Given the description of an element on the screen output the (x, y) to click on. 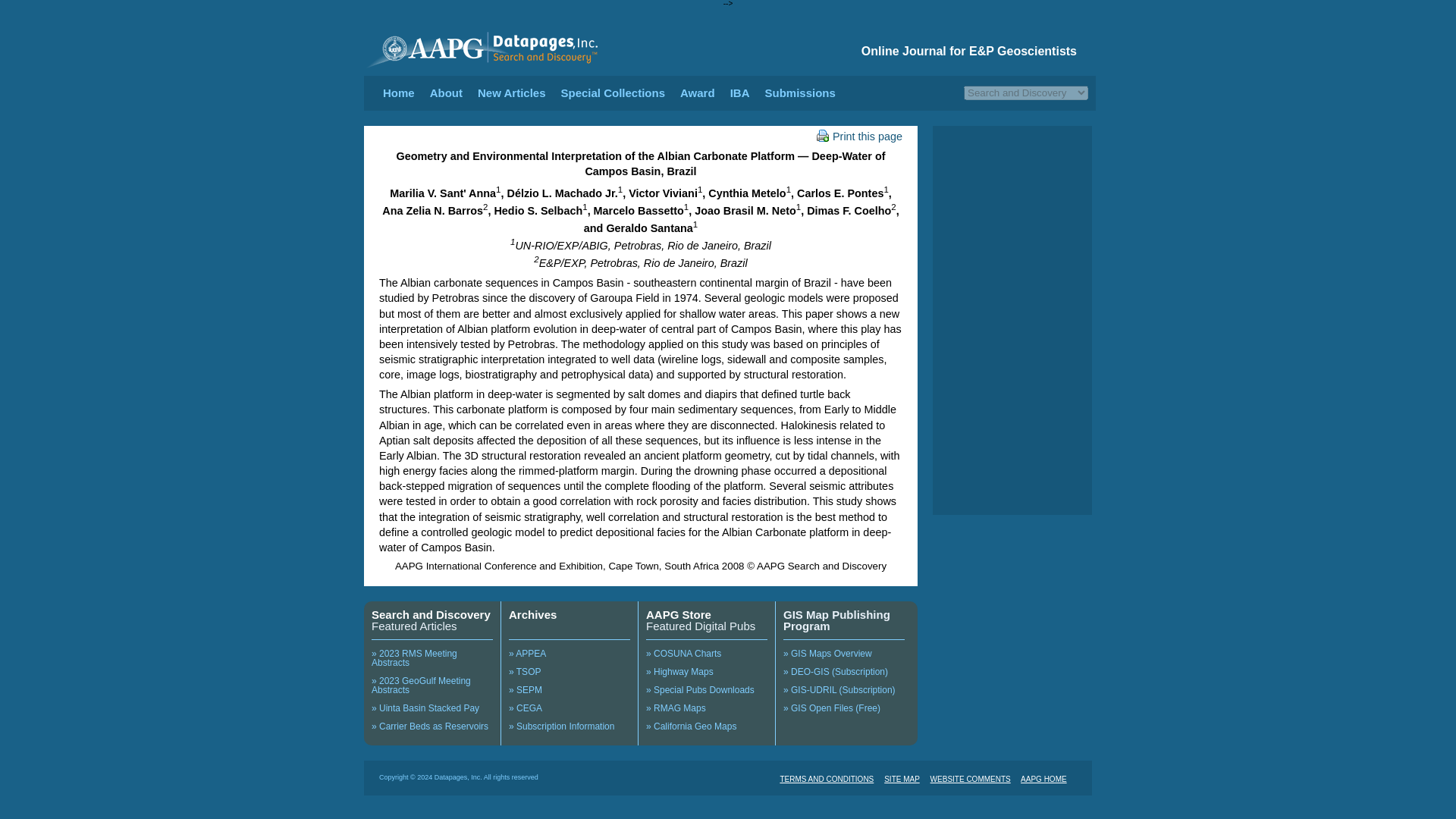
Award (696, 92)
New Articles (510, 92)
Home (398, 92)
Special Collections (612, 92)
IBA (739, 92)
Search and Discovery (430, 614)
3rd party ad content (1011, 193)
Submissions (799, 92)
3rd party ad content (1011, 445)
Print this page (858, 136)
